Given the description of an element on the screen output the (x, y) to click on. 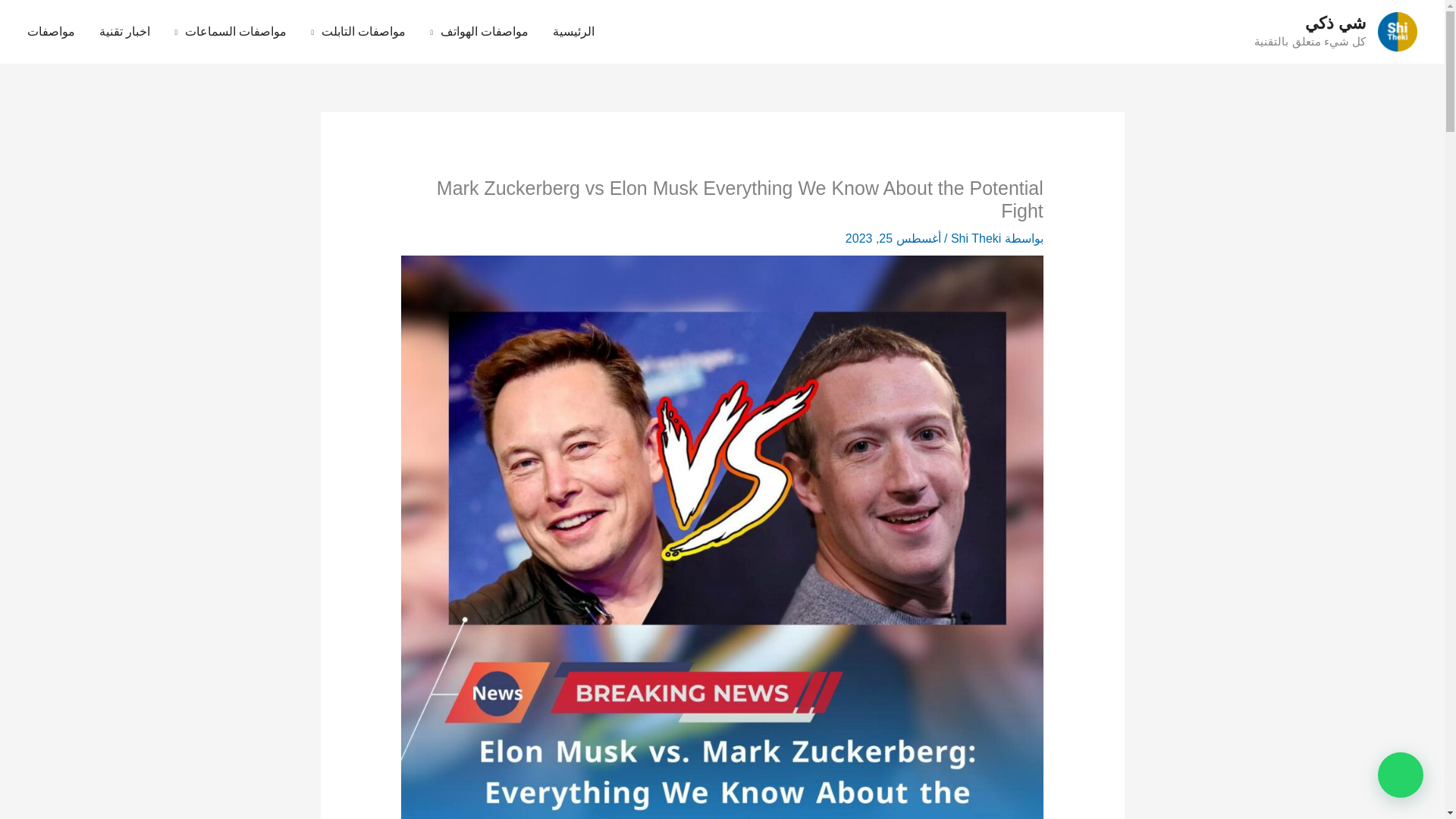
Shi Theki (974, 237)
